Given the description of an element on the screen output the (x, y) to click on. 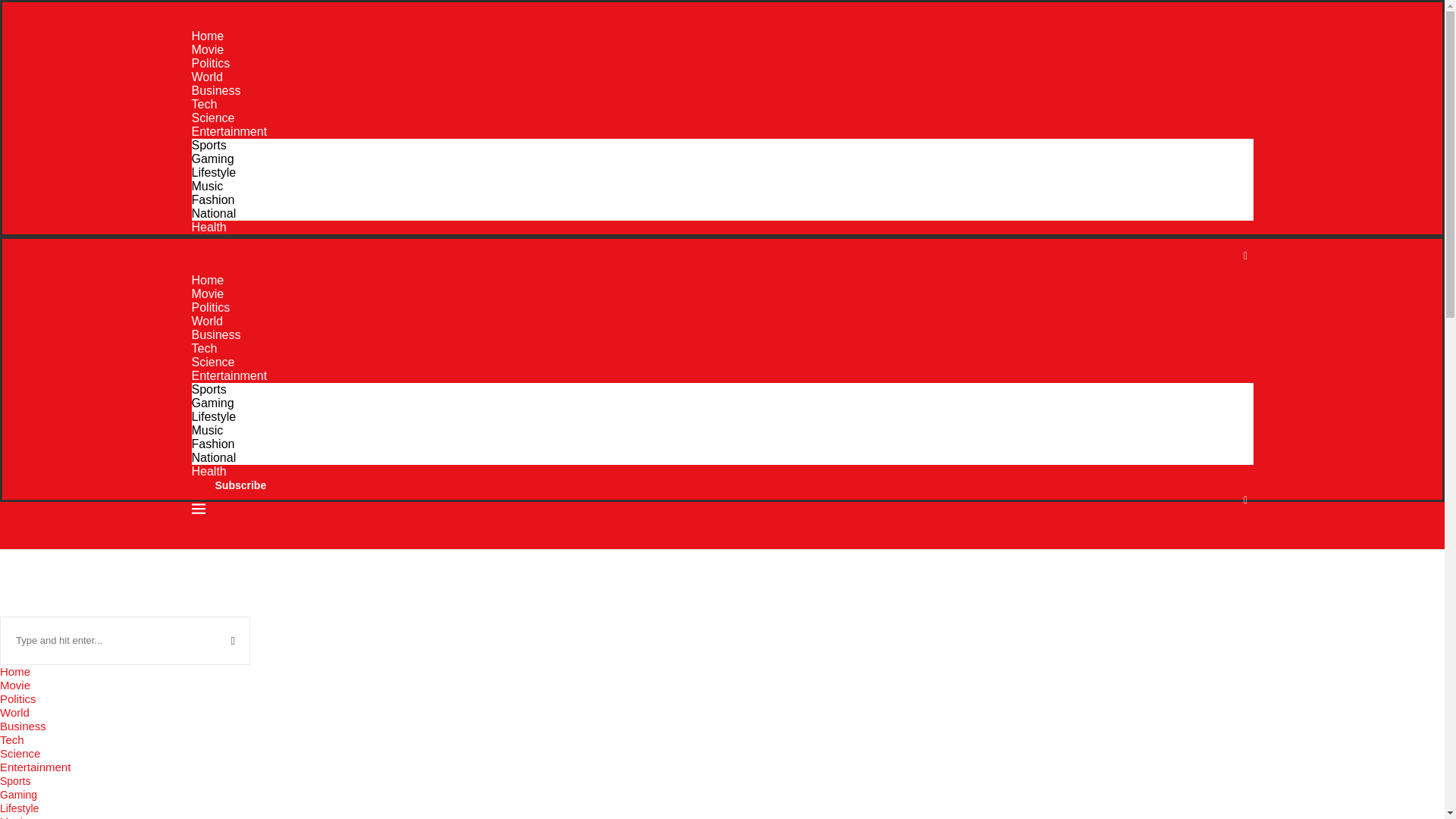
Sports (207, 389)
Politics (210, 307)
Home (207, 279)
Movie (207, 49)
Science (212, 361)
Gaming (211, 158)
World (206, 76)
Entertainment (228, 131)
Lifestyle (212, 172)
Health (207, 471)
Music (206, 185)
National (212, 457)
Entertainment (228, 375)
Tech (203, 103)
World (206, 320)
